Given the description of an element on the screen output the (x, y) to click on. 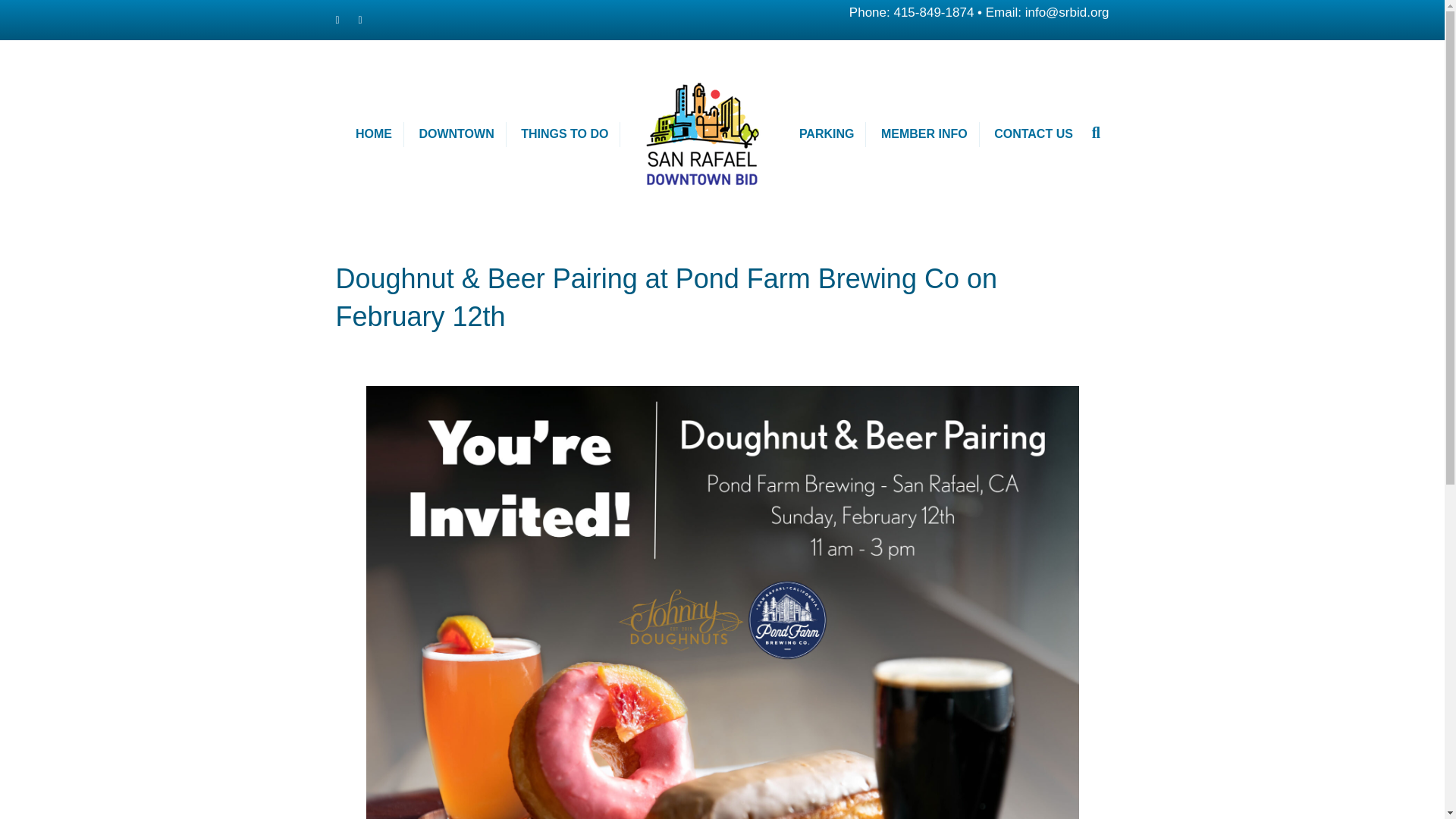
Instagram (369, 19)
Facebook (346, 19)
